Given the description of an element on the screen output the (x, y) to click on. 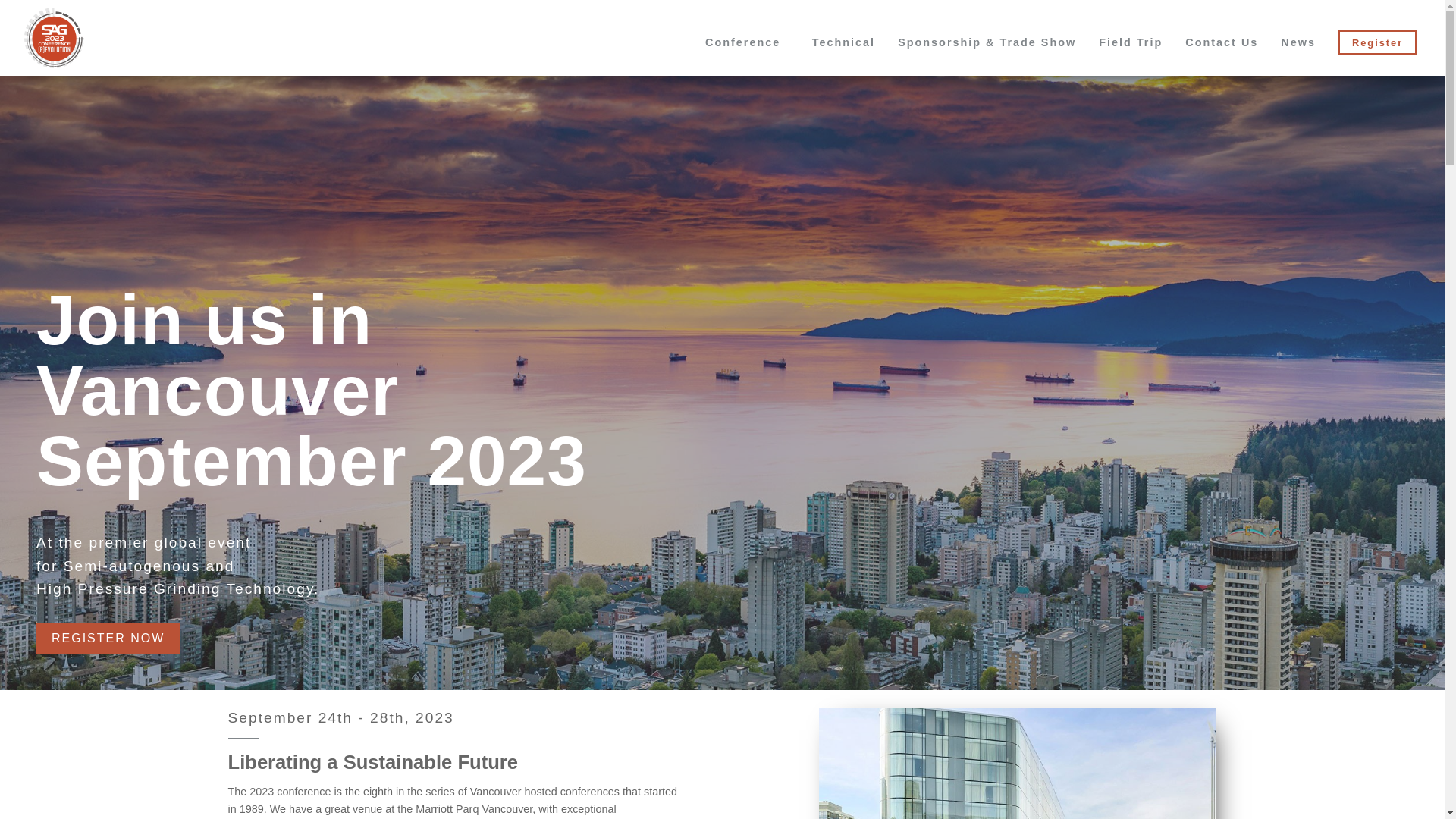
REGISTER NOW (107, 638)
Conference (742, 42)
Technical (843, 42)
News (1298, 42)
Contact Us (1221, 42)
Register (1377, 42)
Field Trip (1130, 42)
